Given the description of an element on the screen output the (x, y) to click on. 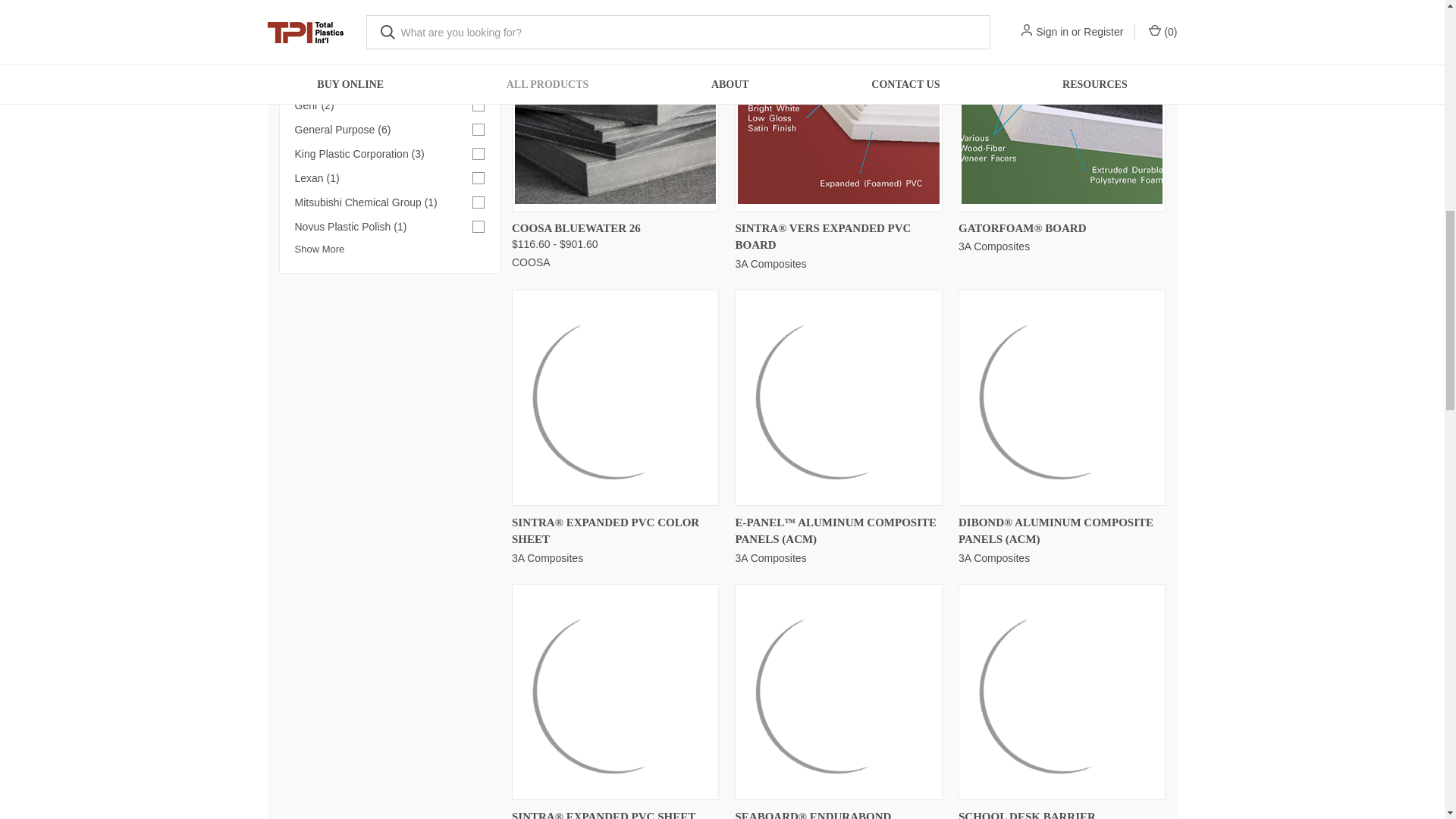
General Purpose School Desk Barrier (1060, 691)
COOSA Bluewater 26 Total Plastics (615, 103)
Seaboard Endurabond (838, 691)
